Given the description of an element on the screen output the (x, y) to click on. 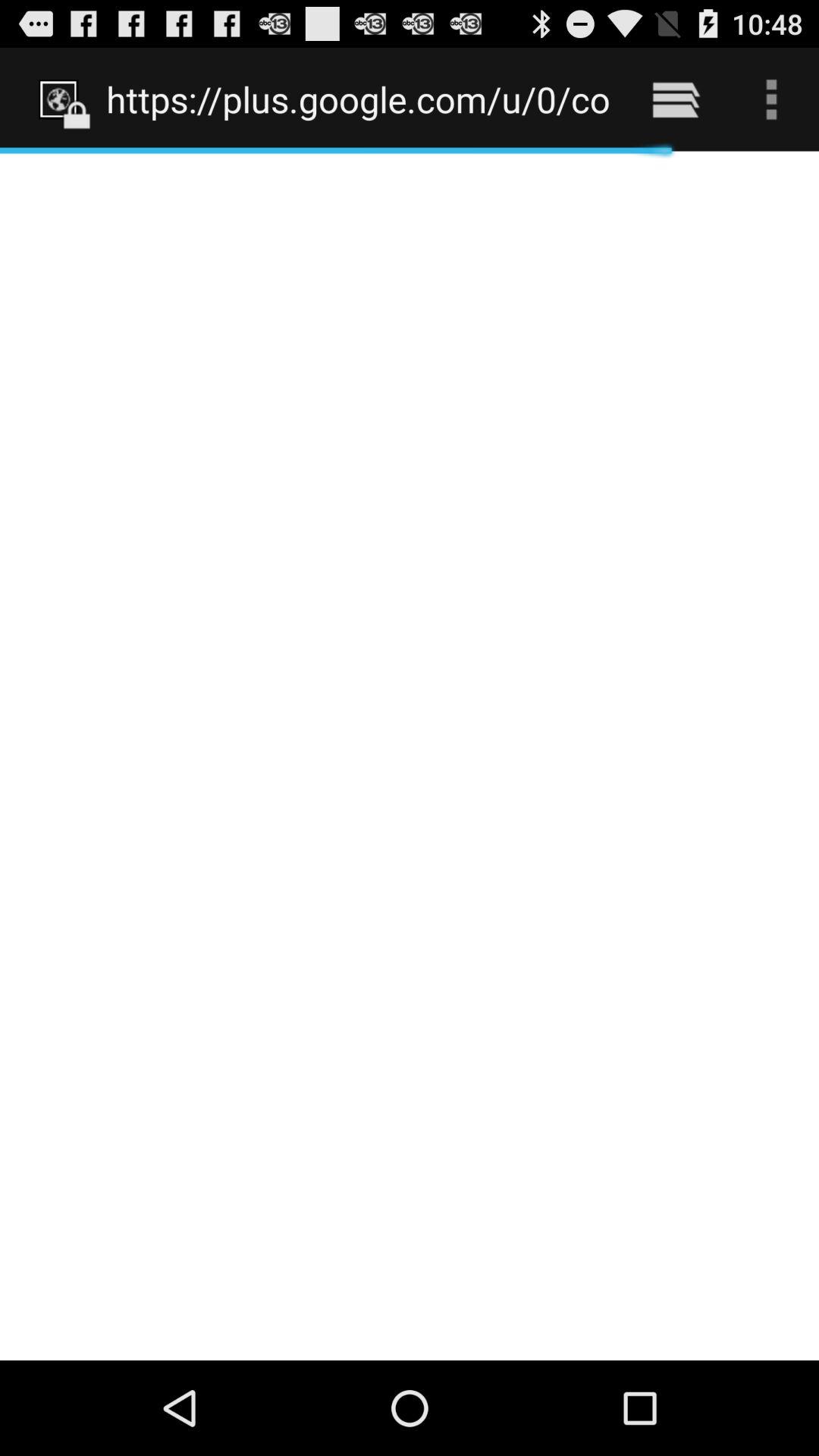
launch item below the https plus google icon (409, 755)
